Given the description of an element on the screen output the (x, y) to click on. 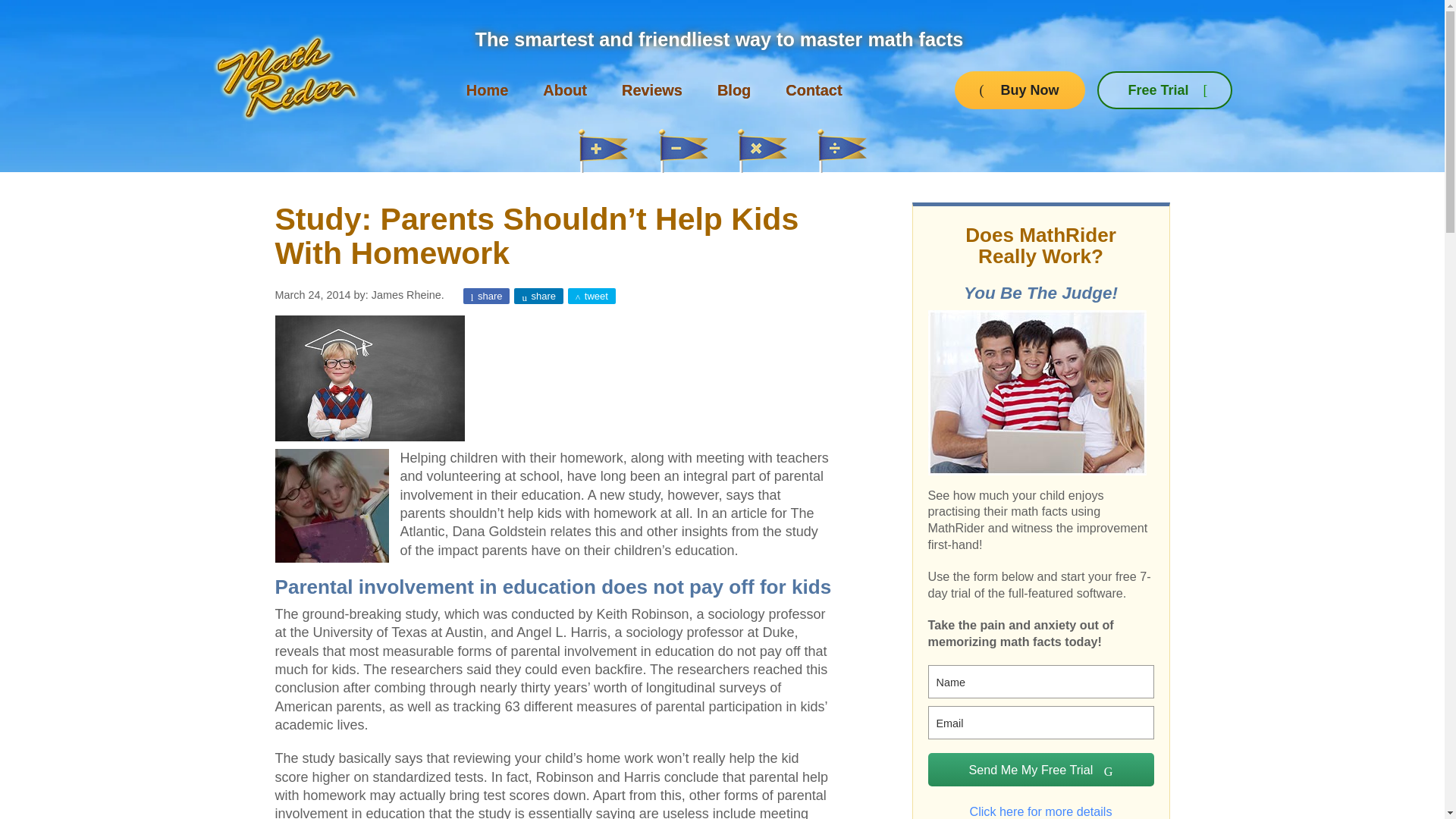
Click here for more details (1041, 805)
About (564, 90)
Contact (813, 90)
Buy Now (1019, 89)
Blog (734, 90)
tweet (591, 295)
Share on Facebook (487, 295)
Reviews (652, 90)
share (487, 295)
share (538, 295)
Tweet this post (591, 295)
Send Me My Free Trial (1041, 769)
Free Trial (1164, 89)
Home (486, 90)
Share on LinkedIn (538, 295)
